Given the description of an element on the screen output the (x, y) to click on. 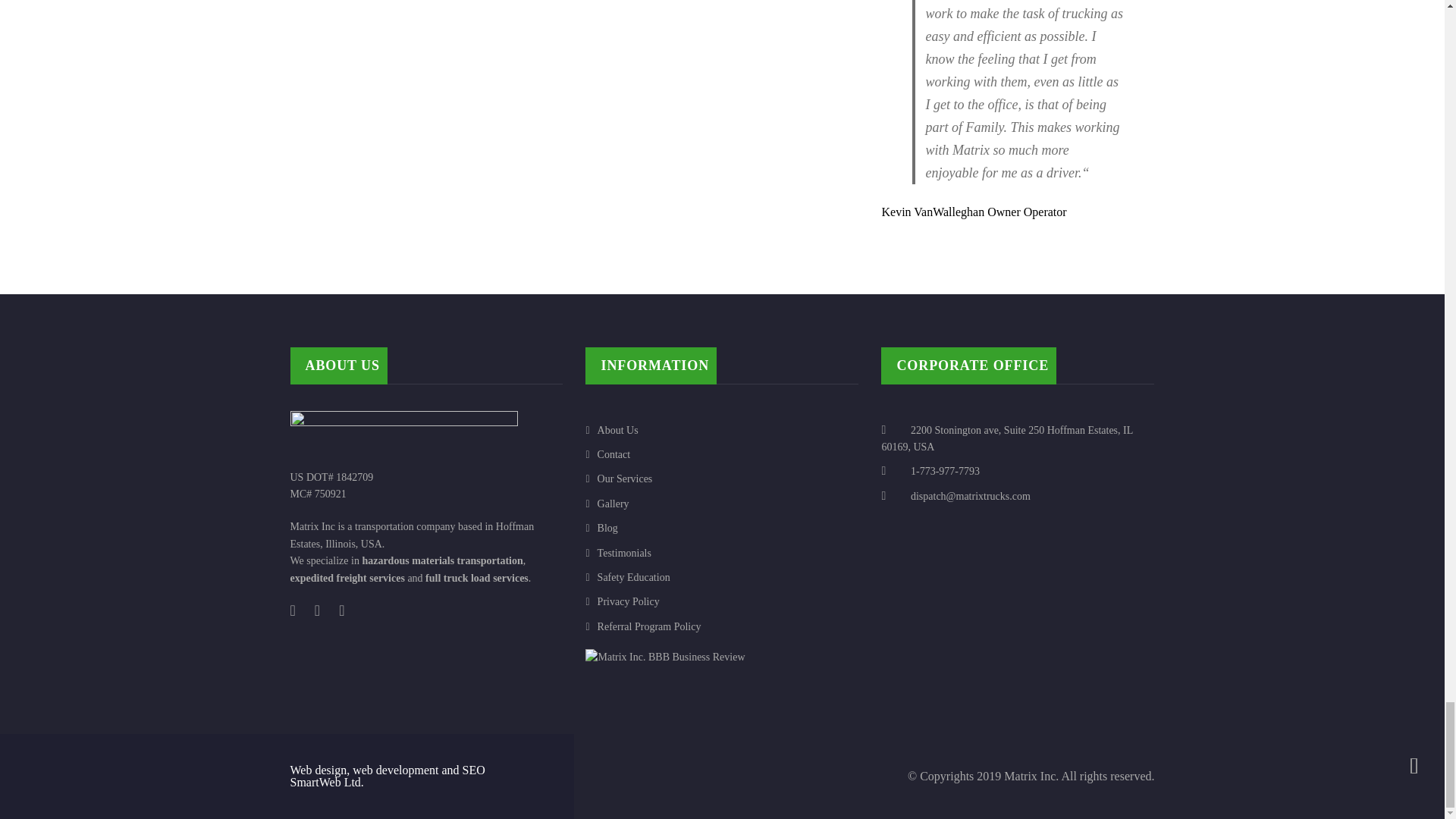
view all (1017, 252)
hazardous materials transportation (441, 560)
expedited freight services (346, 577)
full truck load services (476, 577)
